Given the description of an element on the screen output the (x, y) to click on. 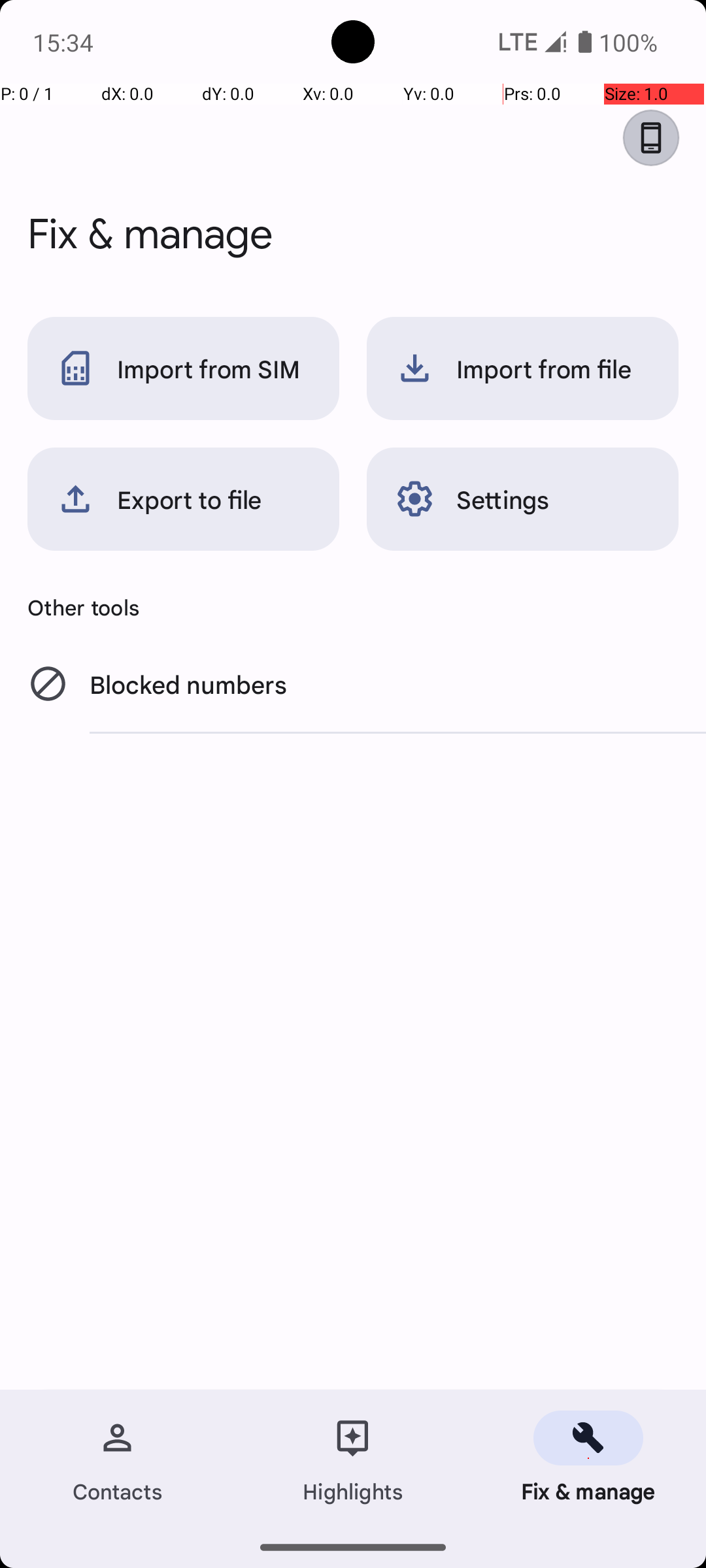
Other tools Element type: android.widget.TextView (353, 606)
Import from SIM Element type: android.widget.TextView (183, 368)
Import from file Element type: android.widget.TextView (522, 368)
Export to file Element type: android.widget.TextView (183, 498)
